Given the description of an element on the screen output the (x, y) to click on. 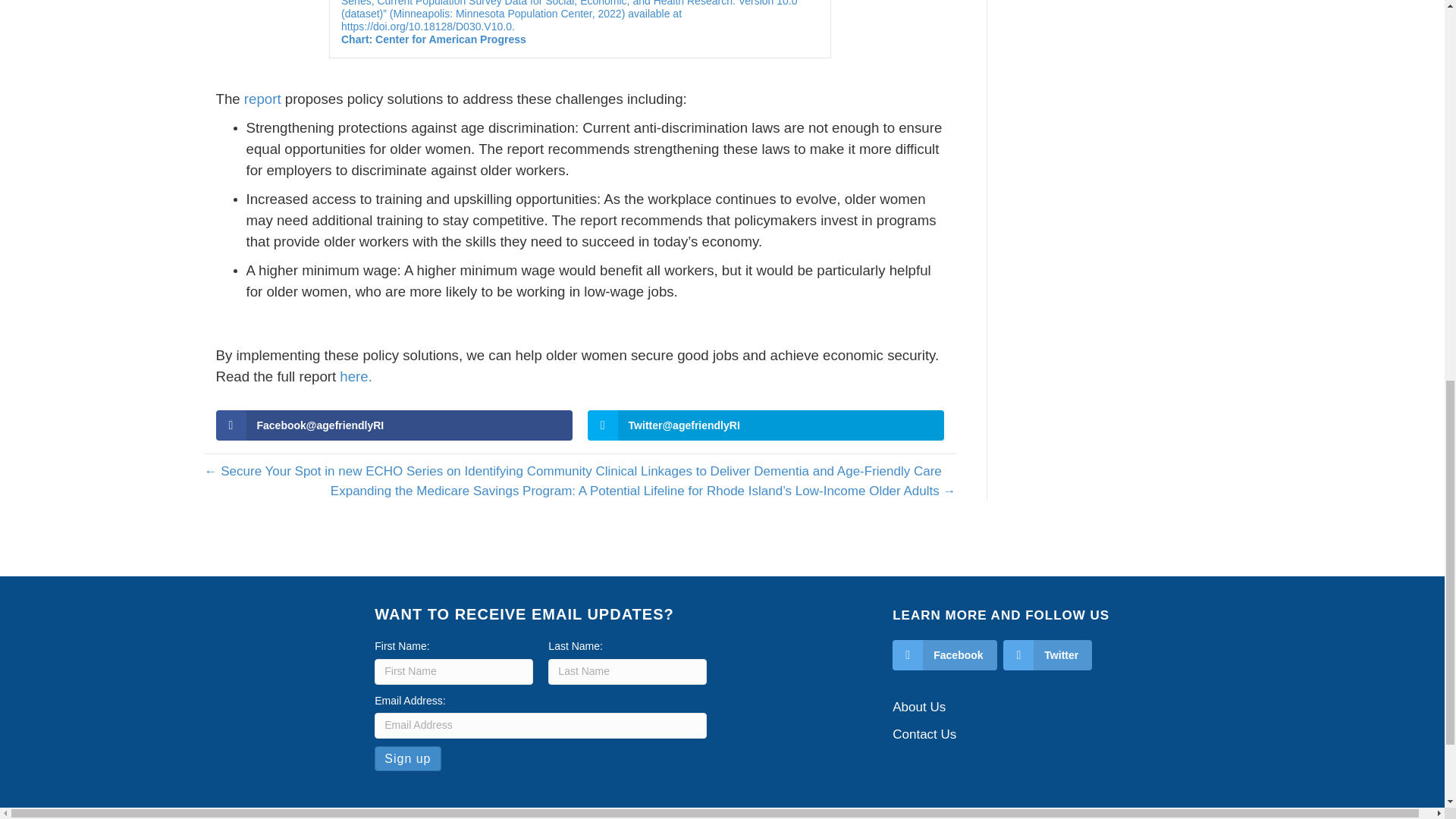
Sign up (407, 758)
here.  (355, 376)
Sign up (407, 758)
report (262, 98)
